Given the description of an element on the screen output the (x, y) to click on. 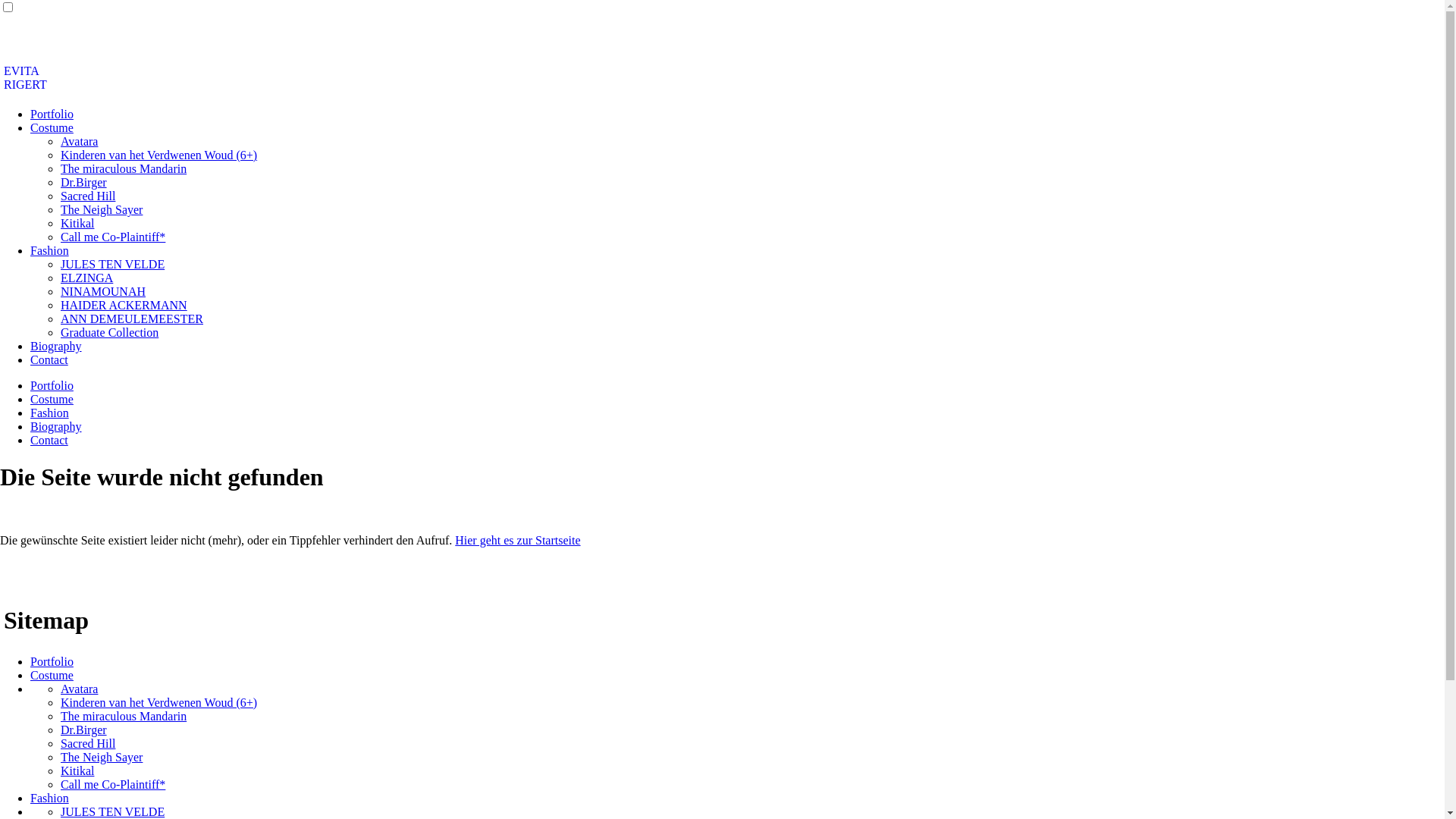
NINAMOUNAH Element type: text (102, 291)
HAIDER ACKERMANN Element type: text (123, 304)
Fashion Element type: text (49, 797)
Contact Element type: text (49, 439)
Call me Co-Plaintiff* Element type: text (112, 784)
Costume Element type: text (51, 127)
The Neigh Sayer Element type: text (101, 756)
Fashion Element type: text (49, 412)
Avatara Element type: text (78, 140)
Kitikal Element type: text (77, 222)
Call me Co-Plaintiff* Element type: text (112, 236)
JULES TEN VELDE Element type: text (112, 263)
Hier geht es zur Startseite Element type: text (517, 539)
Kitikal Element type: text (77, 770)
Kinderen van het Verdwenen Woud (6+) Element type: text (158, 702)
Portfolio Element type: text (51, 113)
Costume Element type: text (51, 674)
EVITA
RIGERT Element type: text (25, 77)
Sacred Hill Element type: text (87, 195)
Kinderen van het Verdwenen Woud (6+) Element type: text (158, 154)
Fashion Element type: text (49, 250)
Biography Element type: text (55, 426)
Avatara Element type: text (78, 688)
Portfolio Element type: text (51, 385)
The miraculous Mandarin Element type: text (123, 168)
ANN DEMEULEMEESTER Element type: text (131, 318)
Dr.Birger Element type: text (83, 181)
The Neigh Sayer Element type: text (101, 209)
Costume Element type: text (51, 398)
Portfolio Element type: text (51, 661)
Biography Element type: text (55, 345)
JULES TEN VELDE Element type: text (112, 811)
Dr.Birger Element type: text (83, 729)
Sacred Hill Element type: text (87, 743)
The miraculous Mandarin Element type: text (123, 715)
Graduate Collection Element type: text (109, 332)
ELZINGA Element type: text (86, 277)
Contact Element type: text (49, 359)
